Given the description of an element on the screen output the (x, y) to click on. 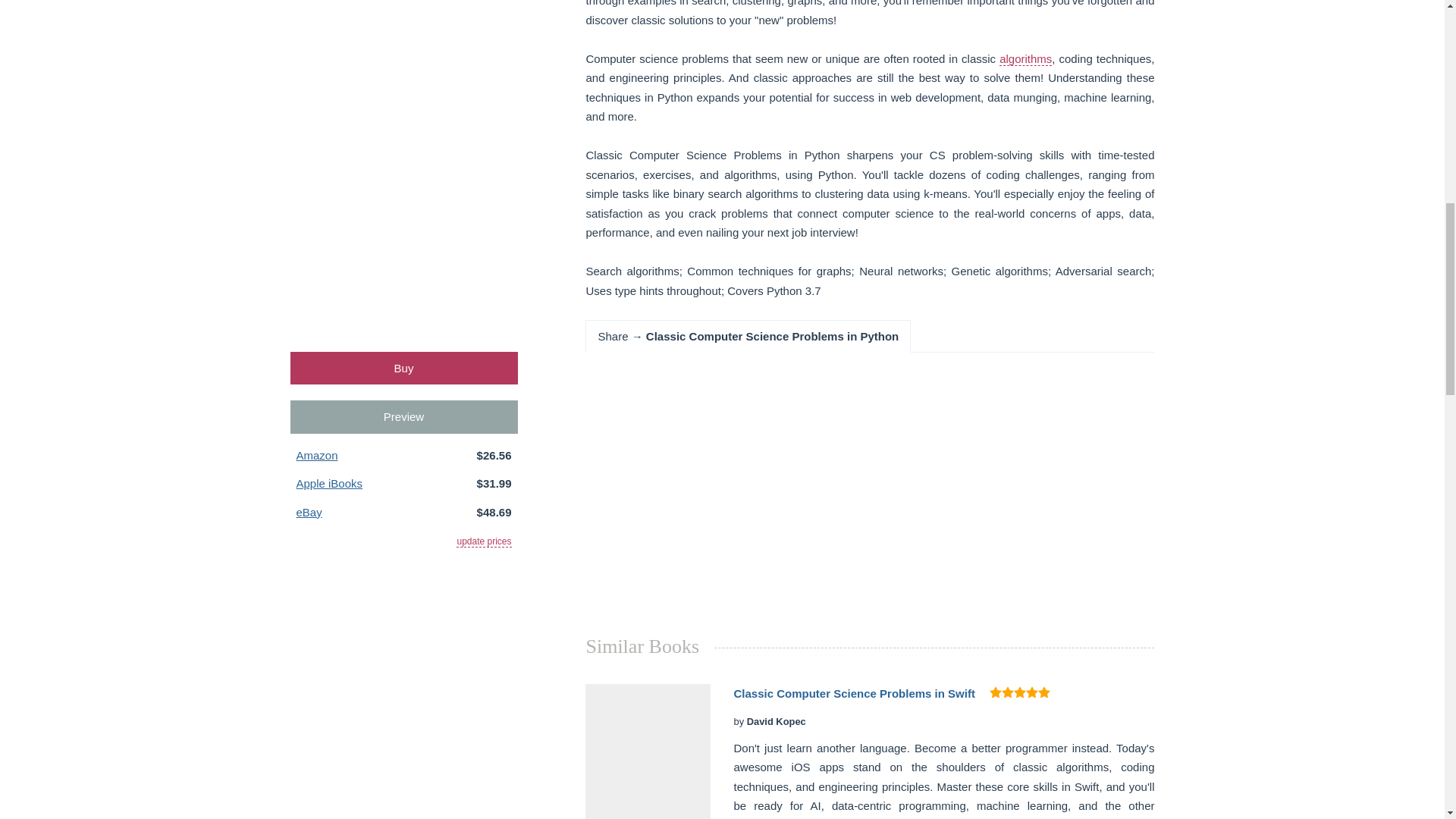
update prices (484, 541)
Buy (402, 368)
Algorithms Books (1024, 59)
Preview (402, 416)
Amazon (316, 454)
Apple iBooks (328, 482)
eBay (308, 512)
Preview (402, 416)
algorithms (1024, 59)
Classic Computer Science Problems in Swift (853, 693)
Buy (402, 368)
